Given the description of an element on the screen output the (x, y) to click on. 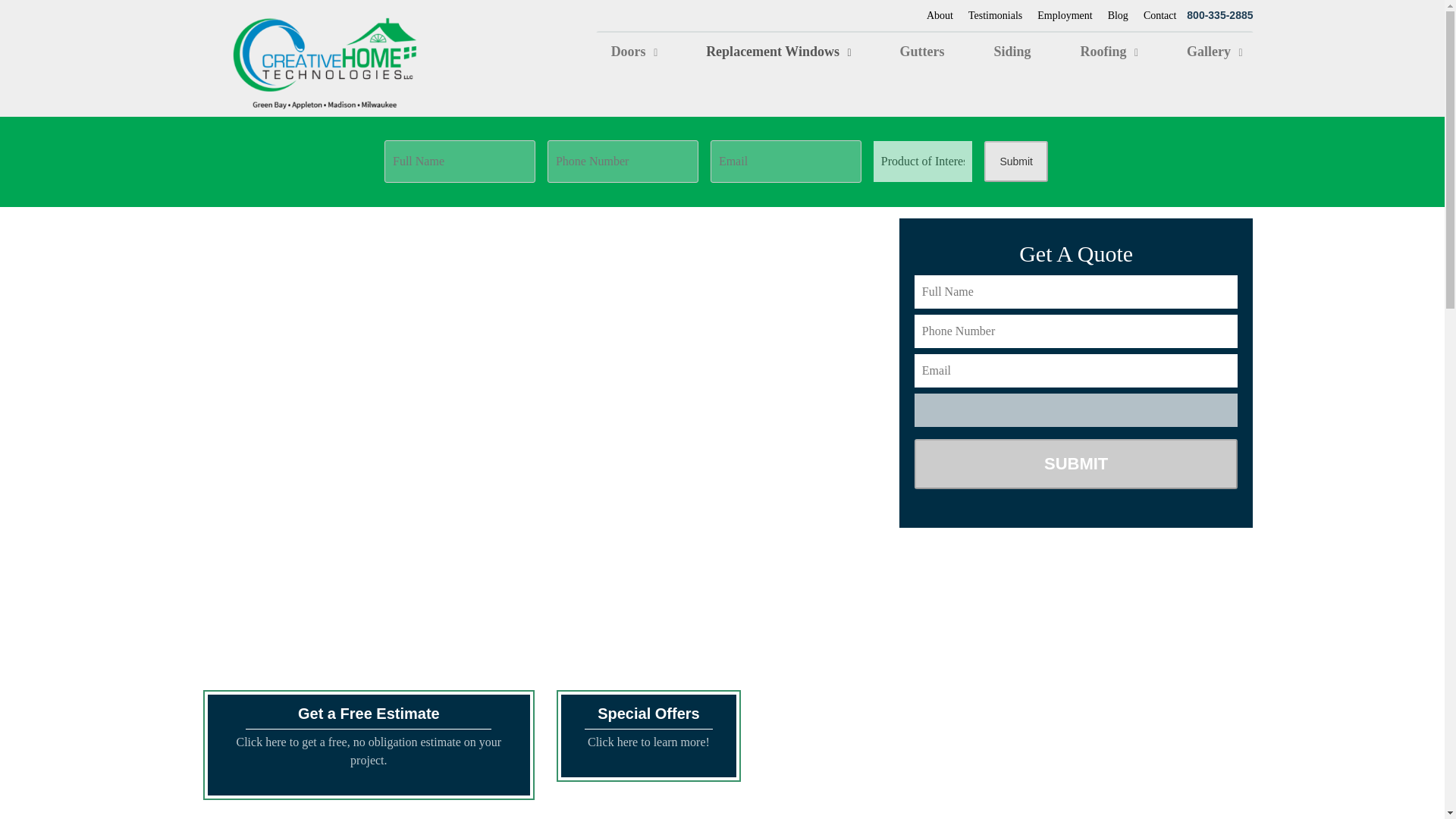
Submit (1016, 160)
Gallery (1211, 51)
About (939, 15)
Siding (1032, 51)
Employment (1064, 15)
Replacement Windows (798, 51)
Testimonials (995, 15)
Doors (655, 51)
Gutters (942, 51)
Submit (1076, 463)
Roofing (1130, 51)
